Given the description of an element on the screen output the (x, y) to click on. 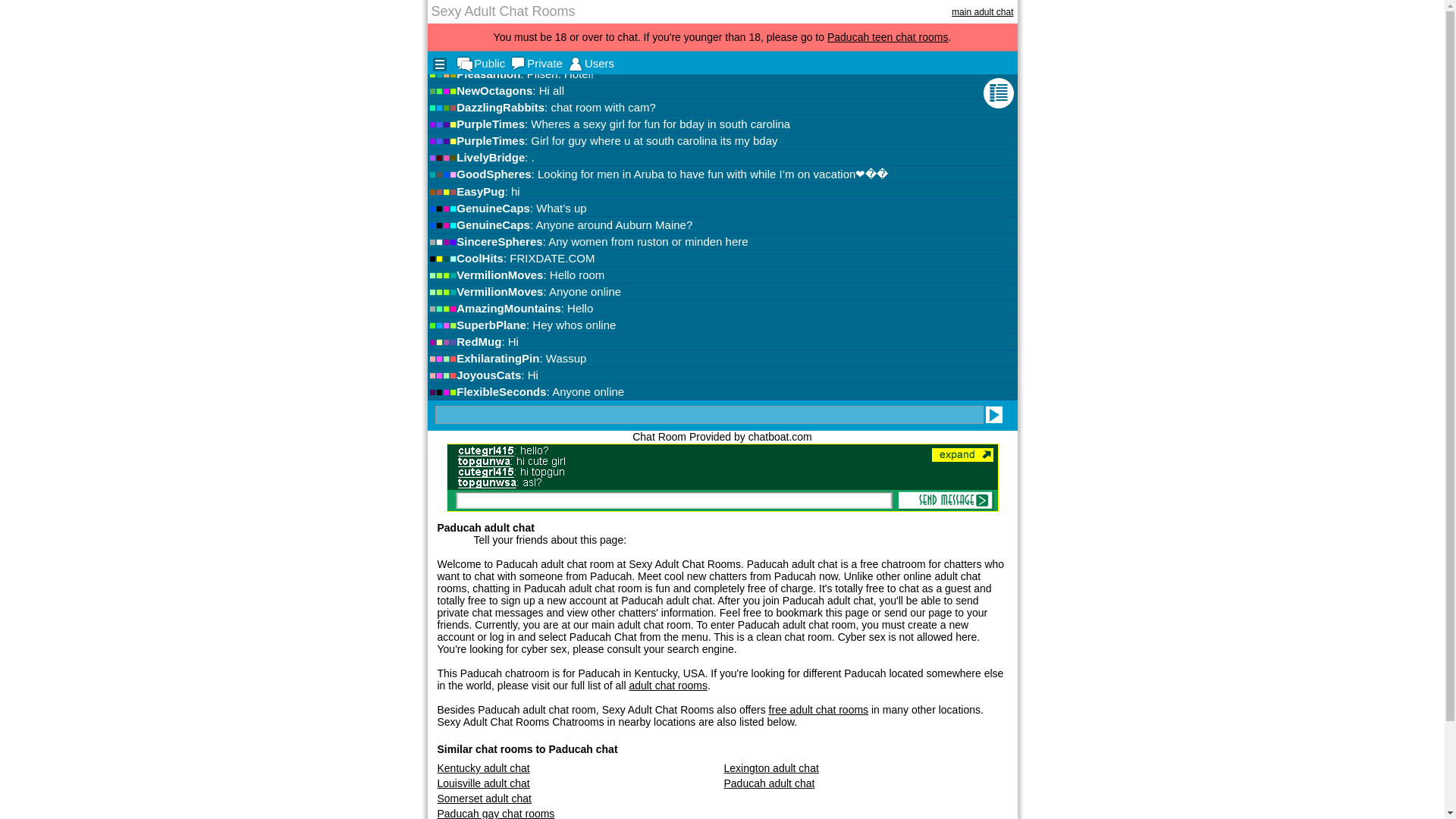
Paducah teen chat rooms (888, 37)
Paducah gay chat rooms (495, 813)
Louisville adult chat (482, 783)
free adult chat rooms (818, 709)
adult chat rooms (667, 685)
Paducah adult chat (768, 783)
Lexington adult chat (770, 767)
main adult chat (982, 10)
Somerset adult chat (483, 798)
Kentucky adult chat (482, 767)
